Given the description of an element on the screen output the (x, y) to click on. 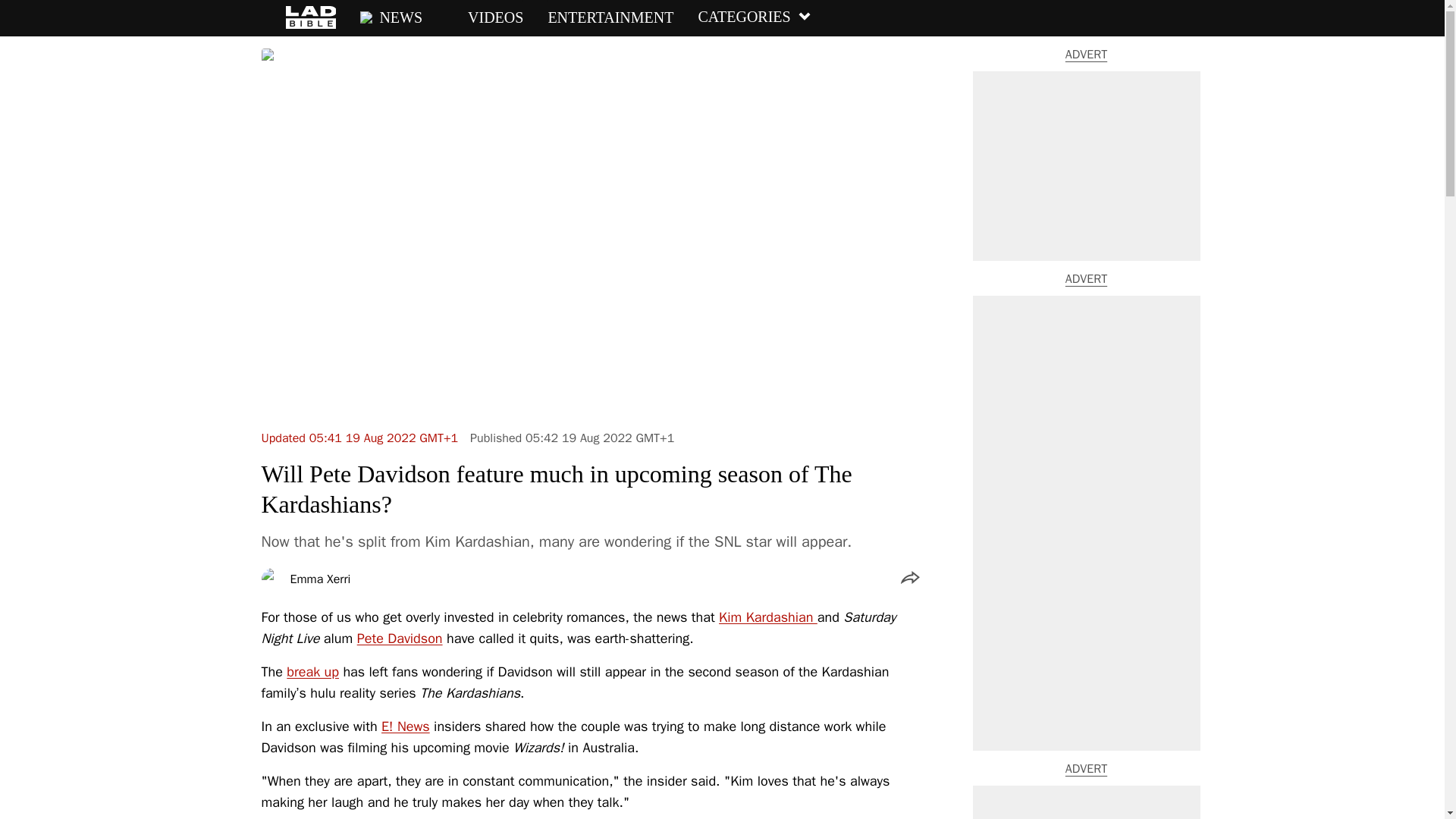
VIDEOS (484, 17)
NEWS (390, 17)
ENTERTAINMENT (609, 17)
CATEGORIES (753, 17)
